Given the description of an element on the screen output the (x, y) to click on. 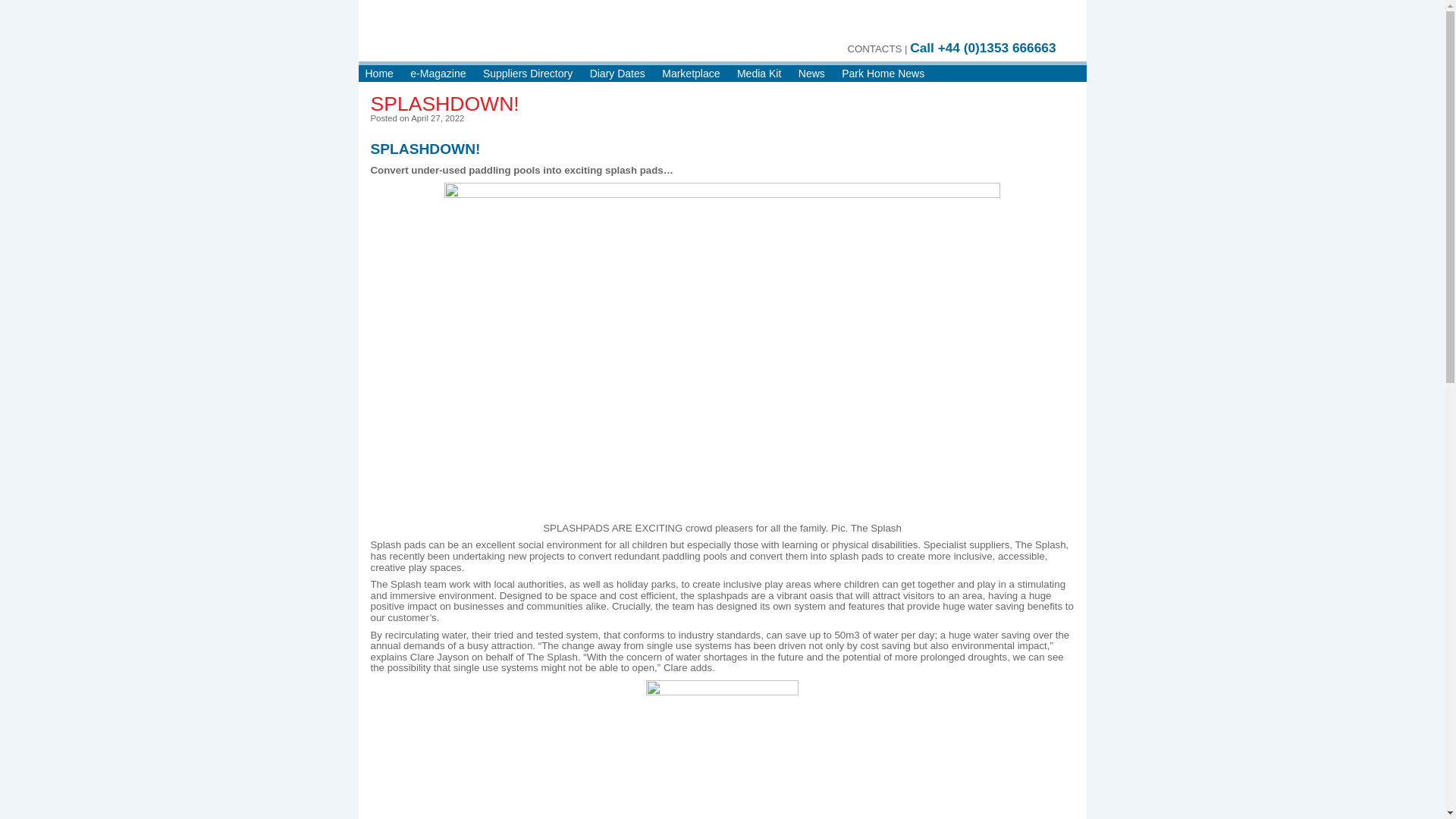
Holiday Park Scene Magazine (538, 38)
Print (934, 24)
Marketplace (690, 76)
Diary Dates (616, 76)
Park Home News (882, 76)
Media Kit (758, 76)
Home (379, 76)
News (811, 76)
Holiday Park Scene Magazine (538, 38)
Increase Text Size (963, 24)
